Given the description of an element on the screen output the (x, y) to click on. 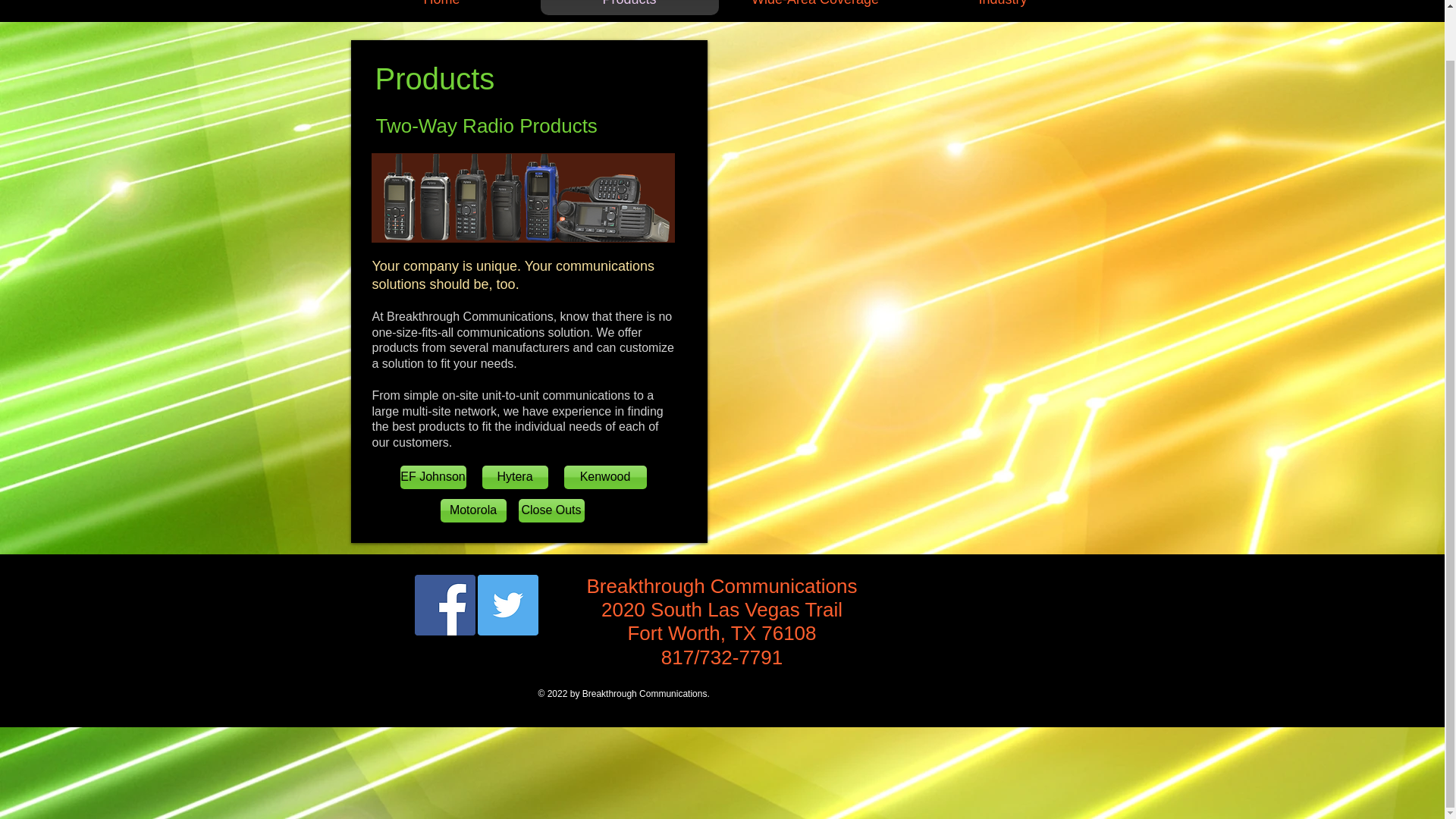
EF Johnson (432, 477)
Close Outs (551, 510)
Home (442, 7)
Motorola (472, 510)
Hytera (514, 477)
Products (629, 7)
Kenwood (605, 477)
Wide-Area Coverage (814, 7)
